Given the description of an element on the screen output the (x, y) to click on. 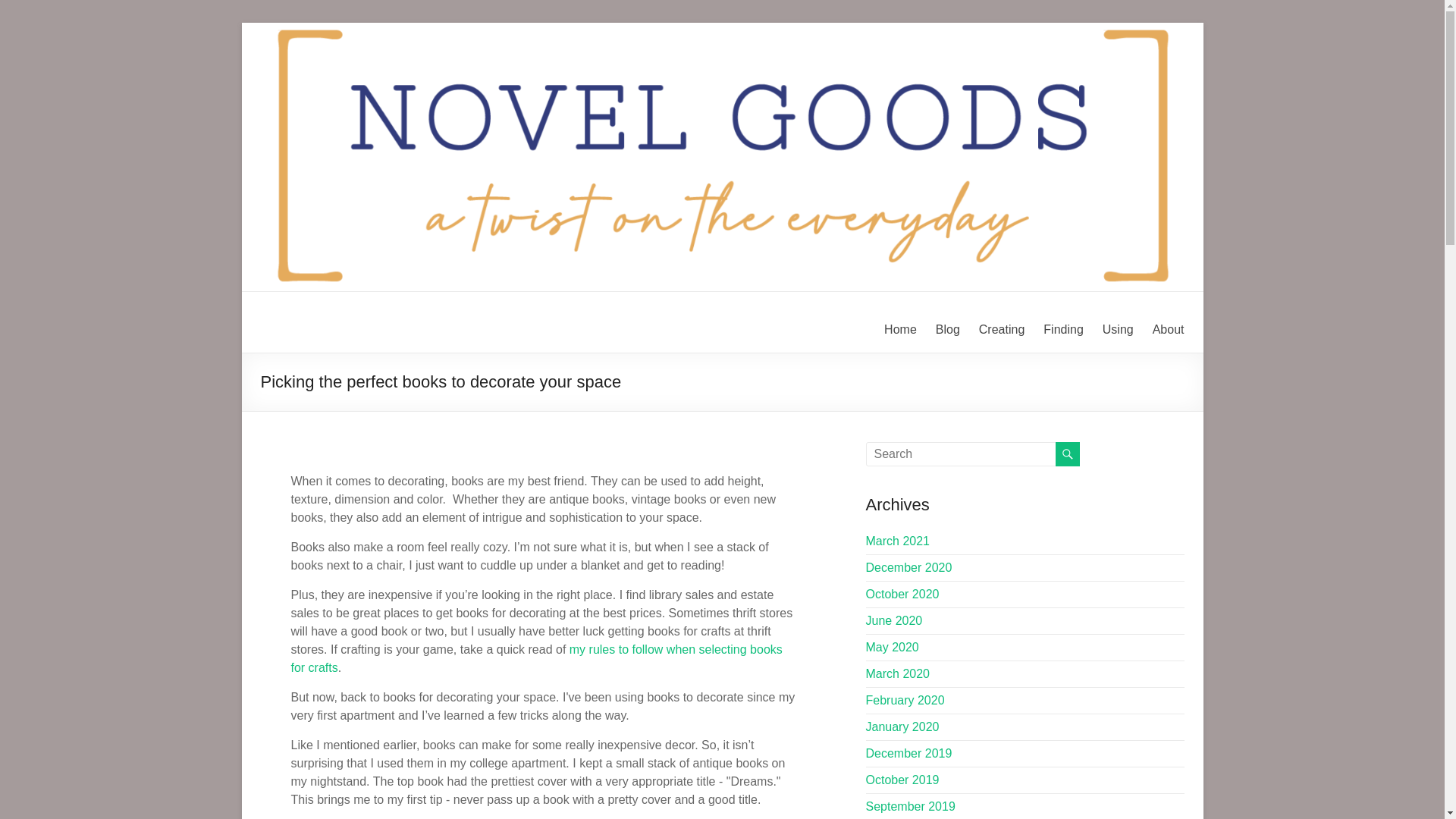
Finding (1063, 329)
About (1169, 329)
June 2020 (894, 620)
May 2020 (892, 646)
September 2019 (910, 806)
March 2020 (898, 673)
Novel Goods (299, 337)
Home (900, 329)
Novel Goods  (299, 337)
